Given the description of an element on the screen output the (x, y) to click on. 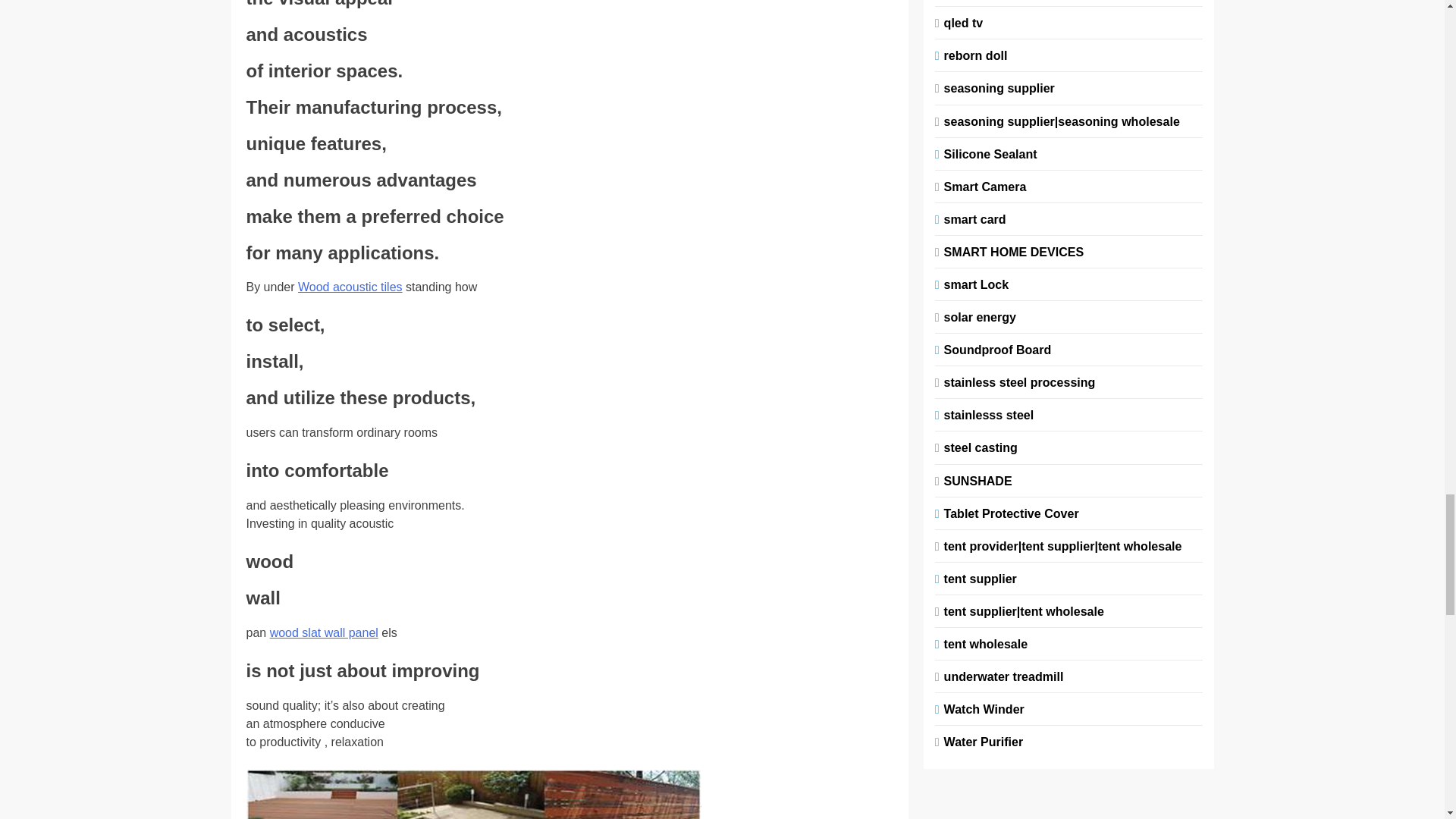
Wood acoustic tiles (350, 286)
wood slat wall panel (323, 632)
